Given the description of an element on the screen output the (x, y) to click on. 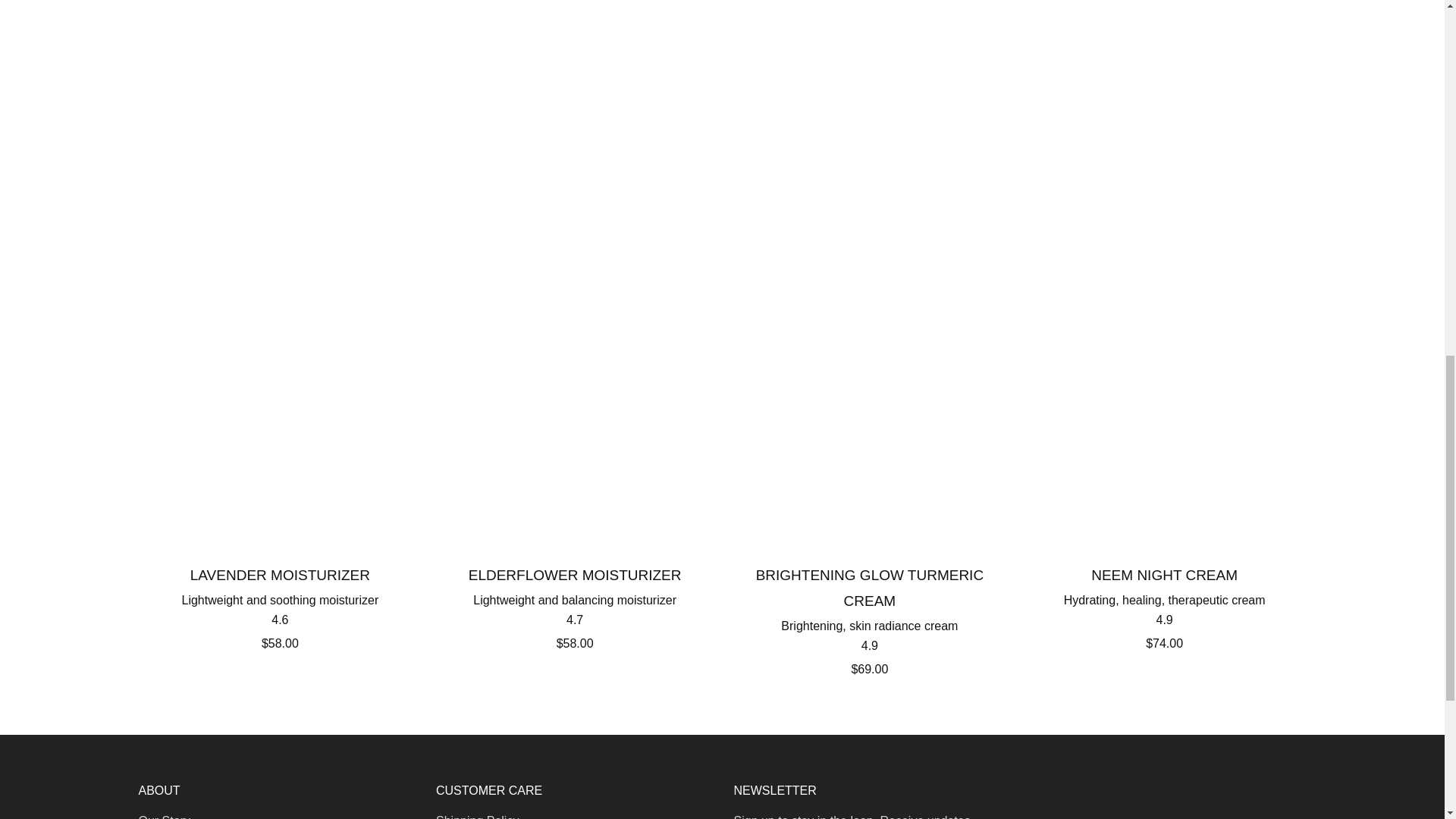
Lavender Moisturizer (280, 606)
Elderflower Moisturizer (574, 606)
Neem Night Cream (1164, 606)
Brightening Glow Turmeric Cream (869, 618)
